Given the description of an element on the screen output the (x, y) to click on. 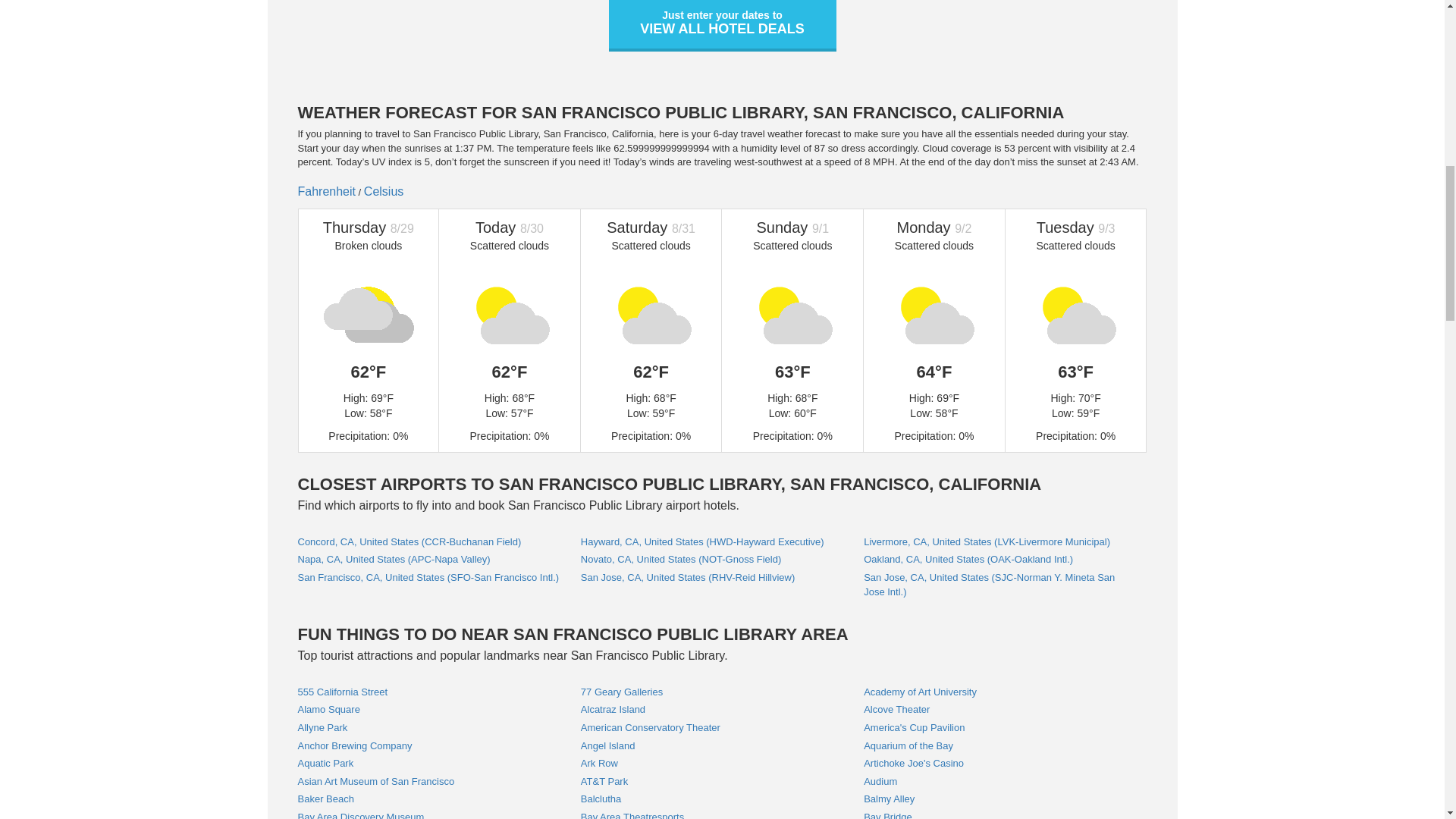
Asian Art Museum of San Francisco (375, 781)
Fahrenheit (326, 191)
Alcatraz Island (612, 708)
American Conservatory Theater (650, 727)
Artichoke Joe's Casino (913, 763)
Aquarium of the Bay (908, 745)
Anchor Brewing Company (354, 745)
Academy of Art University (919, 691)
Allyne Park (721, 25)
